Given the description of an element on the screen output the (x, y) to click on. 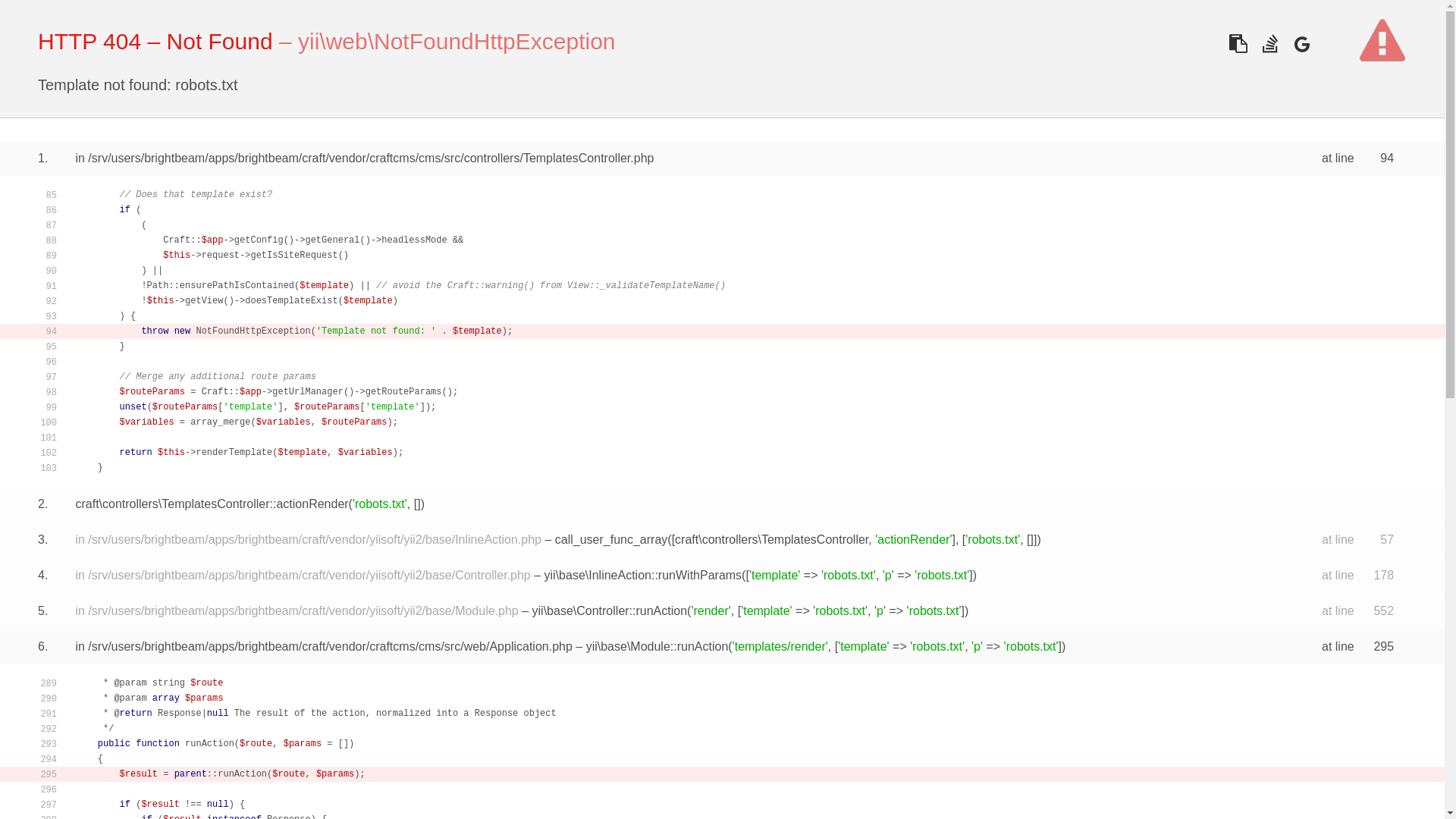
Search error on Google Element type: hover (1301, 43)
yii\web\NotFoundHttpException Element type: text (456, 40)
Copy the stacktrace for use in a bug report or pastebin Element type: hover (1237, 43)
yii\base\Controller::runAction Element type: text (609, 610)
Search error on Stackoverflow Element type: hover (1269, 43)
yii\base\InlineAction::runWithParams Element type: text (643, 574)
yii\base\Module::runAction Element type: text (657, 646)
